Given the description of an element on the screen output the (x, y) to click on. 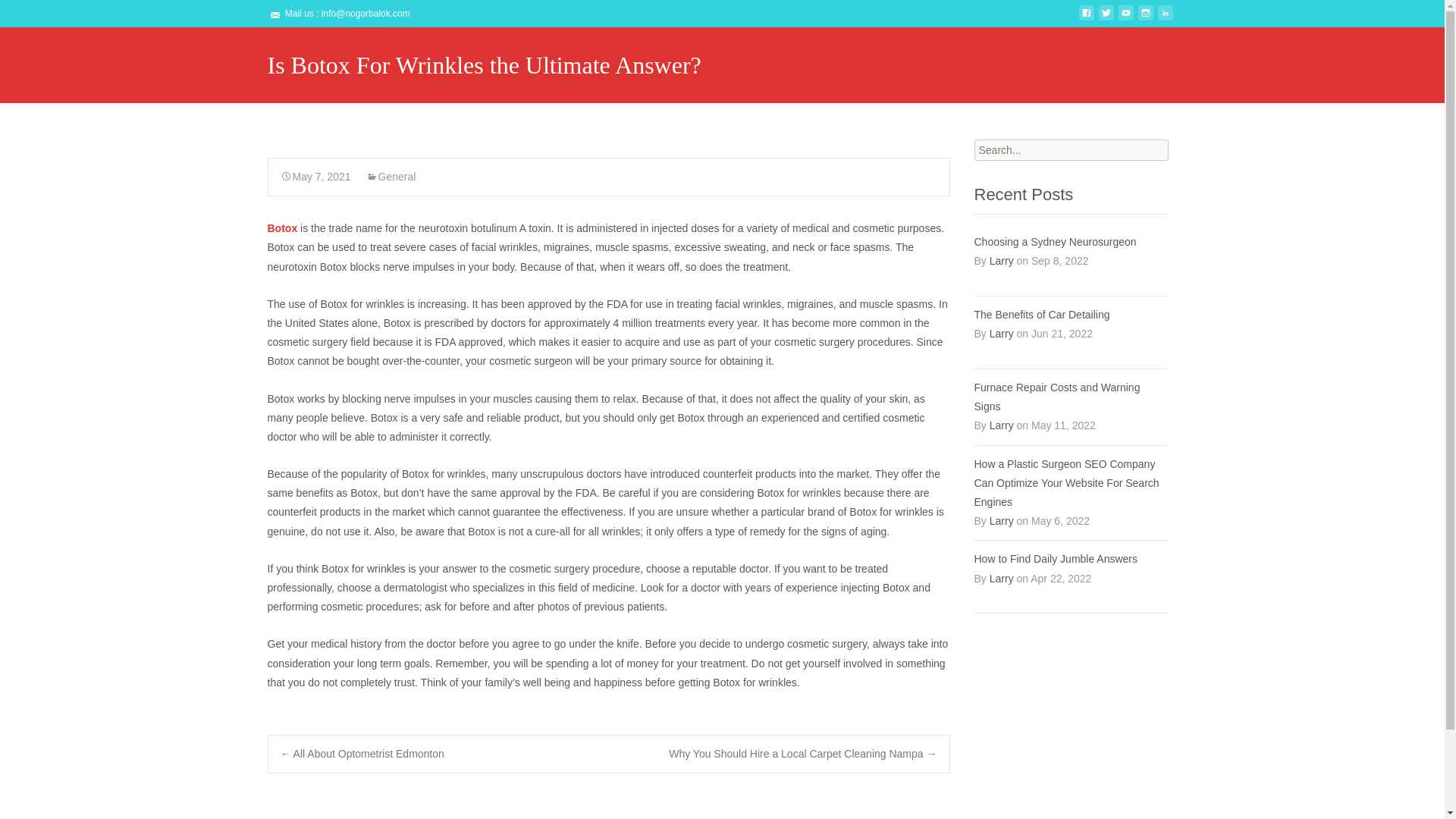
Larry (1001, 425)
The Benefits of Car Detailing (1070, 314)
Search (34, 14)
Furnace Repair Costs and Warning Signs (1070, 397)
Choosing a Sydney Neurosurgeon (1070, 241)
How to Find Daily Jumble Answers (1070, 558)
Botox (281, 227)
How to Find Daily Jumble Answers (1070, 558)
Larry (1001, 521)
The Benefits of Car Detailing (1070, 314)
Furnace Repair Costs and Warning Signs (1070, 397)
youtube (1125, 19)
linkedin (1164, 19)
Larry (1001, 260)
